Given the description of an element on the screen output the (x, y) to click on. 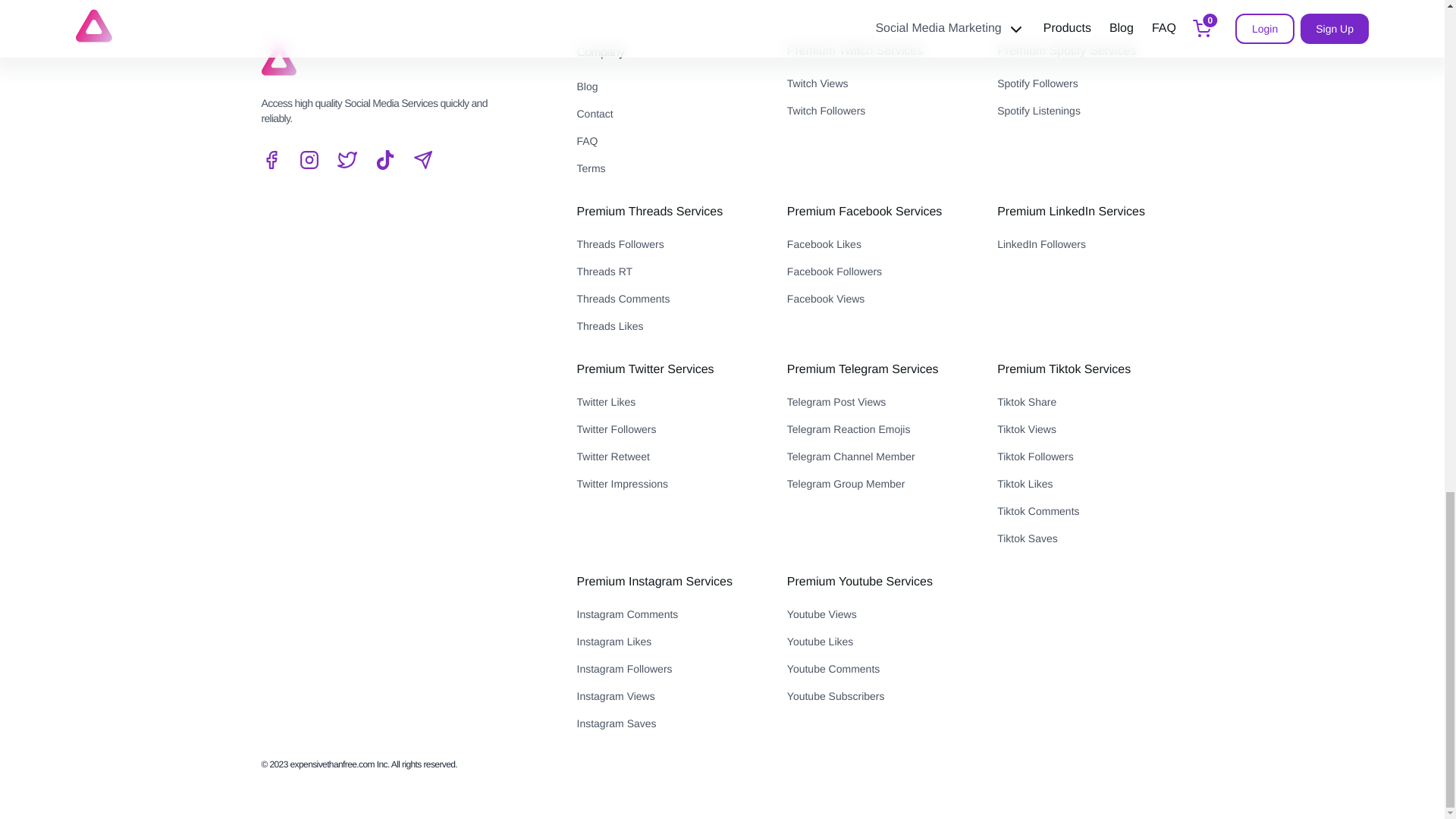
Facebook Views (879, 298)
Premium Facebook Services (864, 211)
Premium LinkedIn Services (1070, 211)
Expensivethanfree Logo (277, 59)
TikTok (384, 159)
Telegram (422, 159)
Twitch Followers (879, 110)
Threads RT (668, 271)
Threads Followers (668, 243)
LinkedIn Followers (1089, 243)
